Given the description of an element on the screen output the (x, y) to click on. 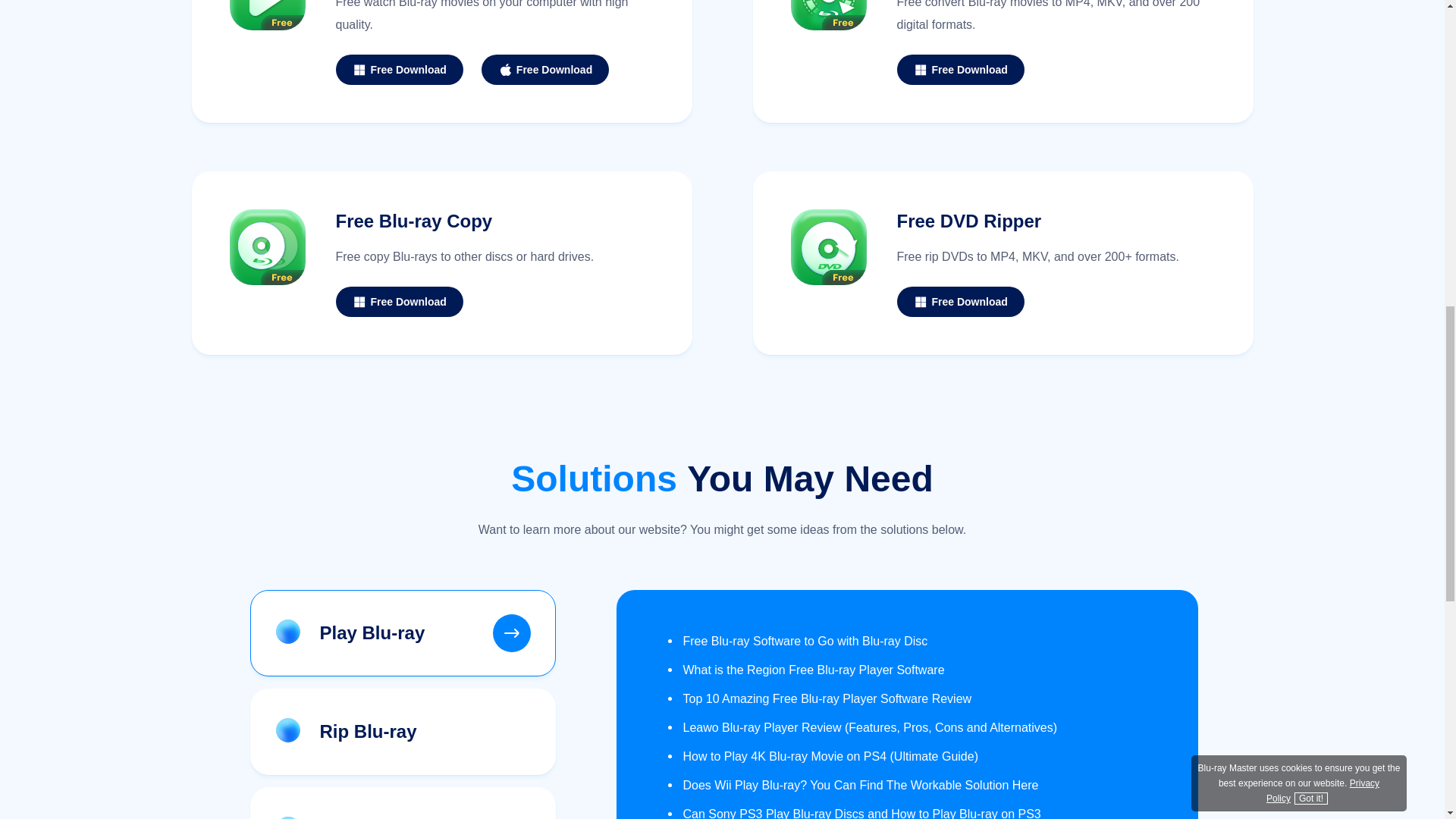
Free Download (959, 301)
What is the Region Free Blu-ray Player Software (804, 669)
Free Download (398, 301)
Top 10 Amazing Free Blu-ray Player Software Review (818, 698)
Free Download (398, 69)
Free Blu-ray Copy (413, 220)
Free Blu-ray Software to Go with Blu-ray Disc (796, 640)
Free Download (959, 69)
Free DVD Ripper (968, 220)
Free Download (544, 69)
